Given the description of an element on the screen output the (x, y) to click on. 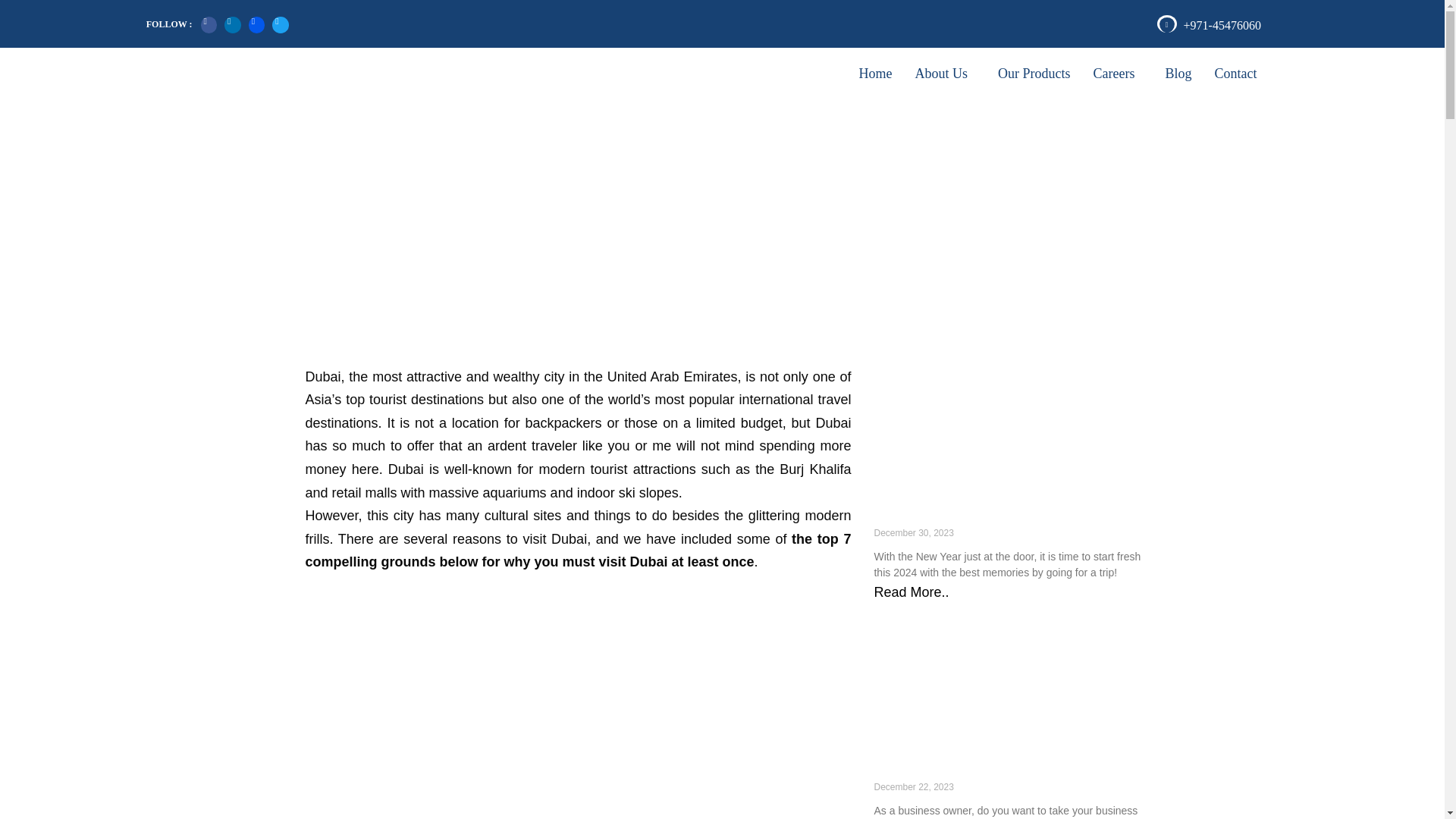
Contact (1235, 73)
About Us (944, 73)
Careers (1117, 73)
Read More.. (911, 591)
Our Products (1034, 73)
Blog (1177, 73)
Home (874, 73)
